Given the description of an element on the screen output the (x, y) to click on. 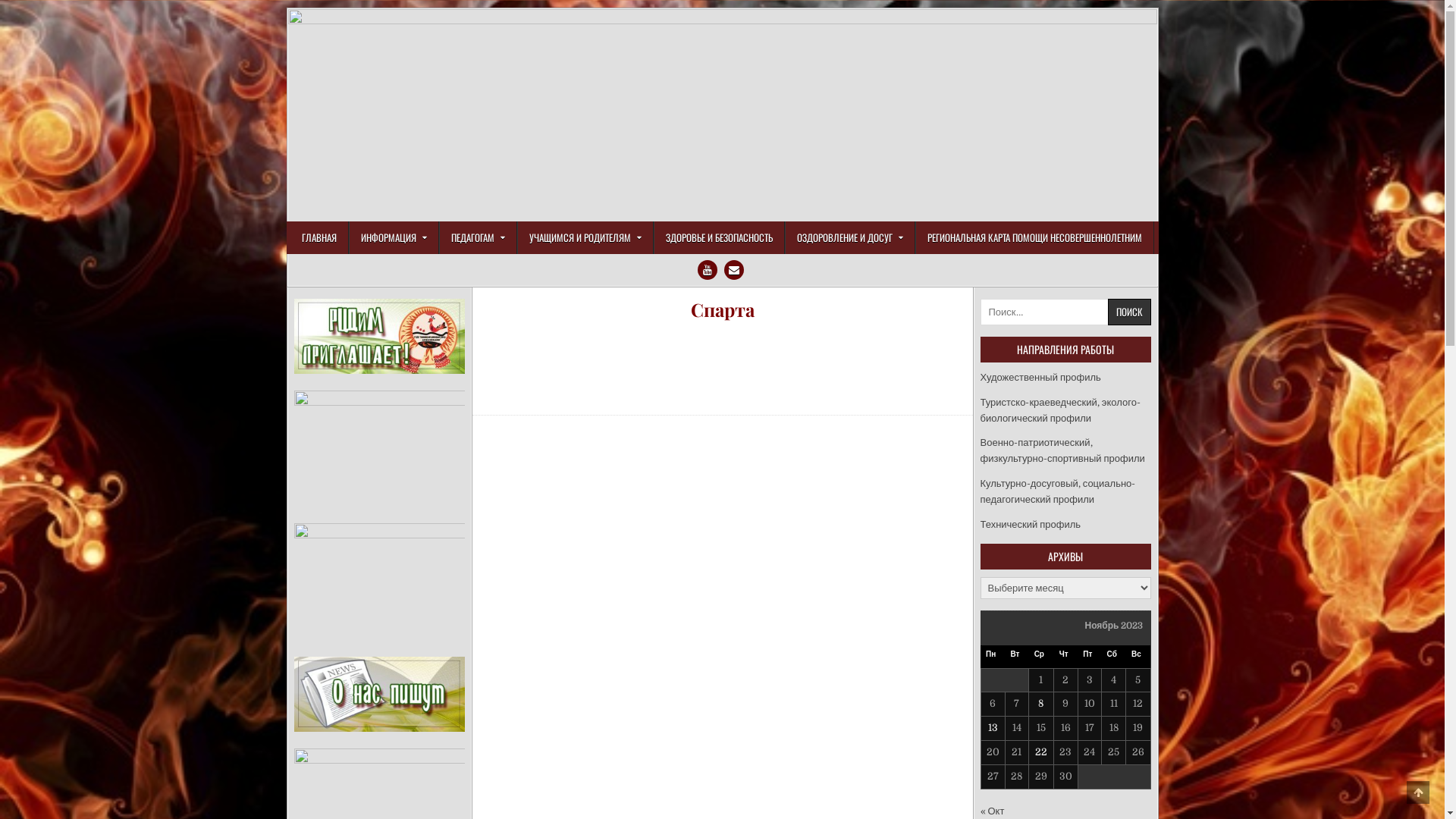
13 Element type: text (992, 727)
22 Element type: text (1041, 751)
Youtube Element type: hover (707, 269)
8 Element type: text (1040, 703)
